Given the description of an element on the screen output the (x, y) to click on. 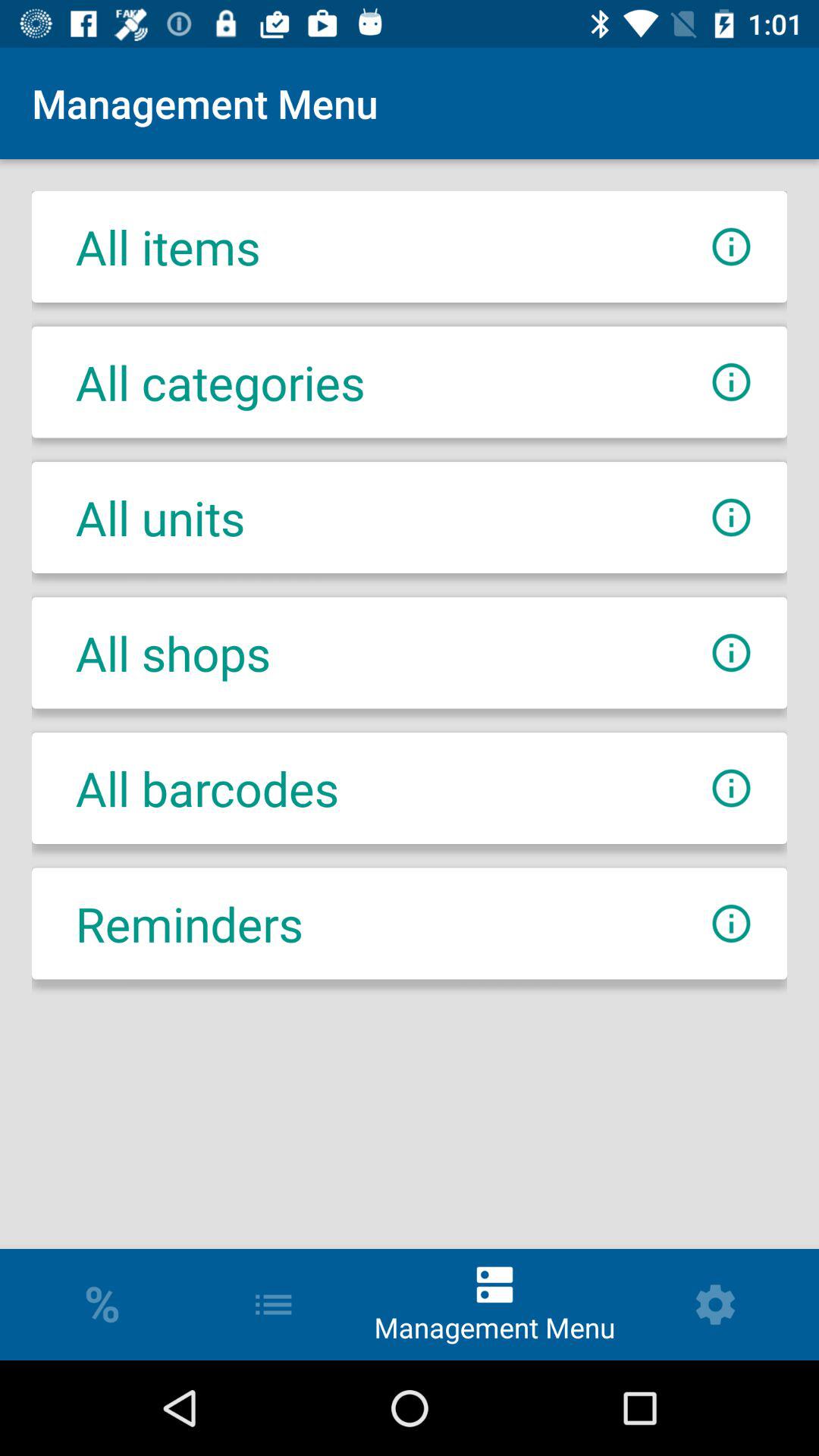
more info (731, 788)
